Given the description of an element on the screen output the (x, y) to click on. 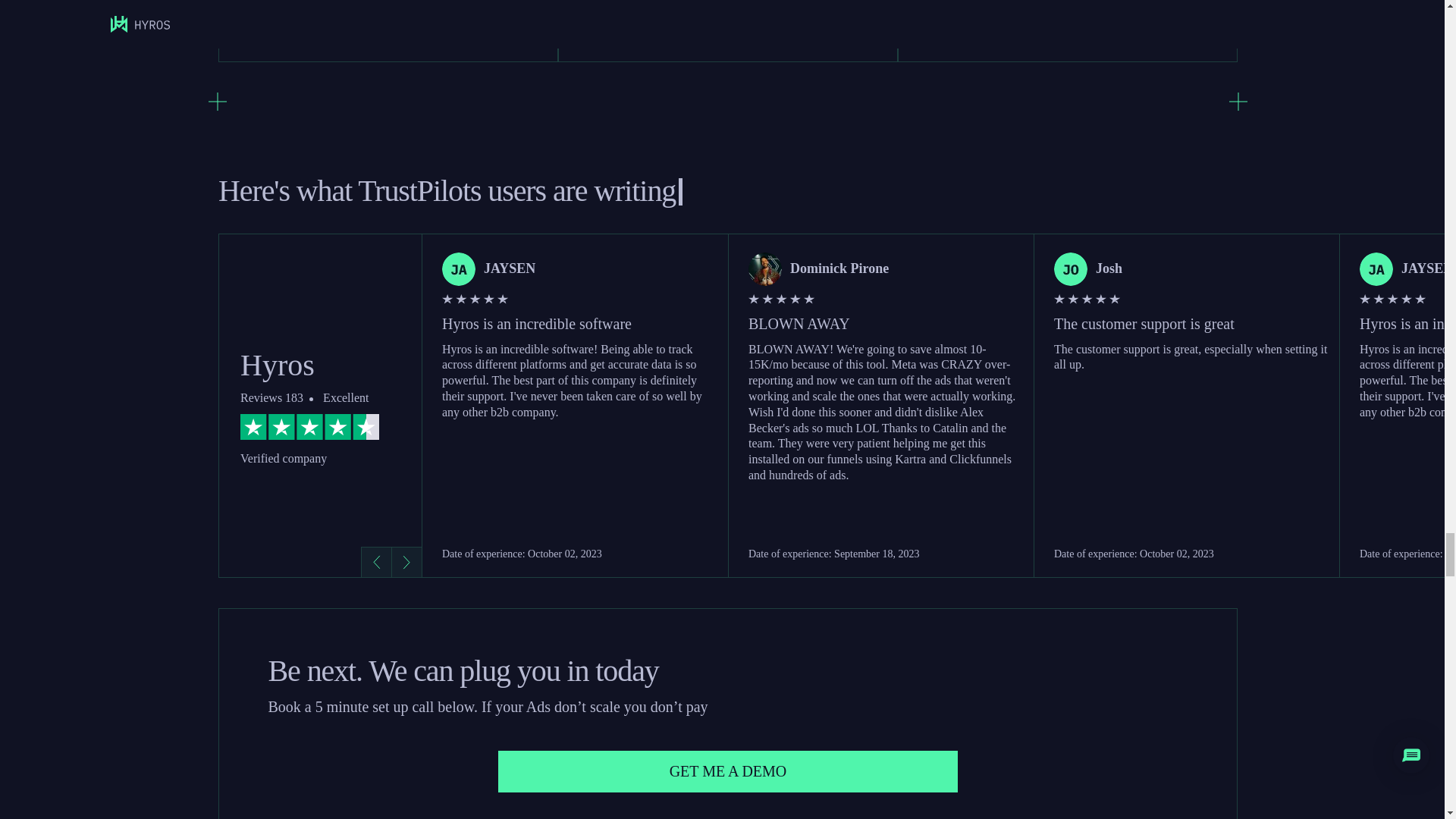
Next (406, 562)
GET ME A DEMO (727, 771)
Previous (376, 562)
